Given the description of an element on the screen output the (x, y) to click on. 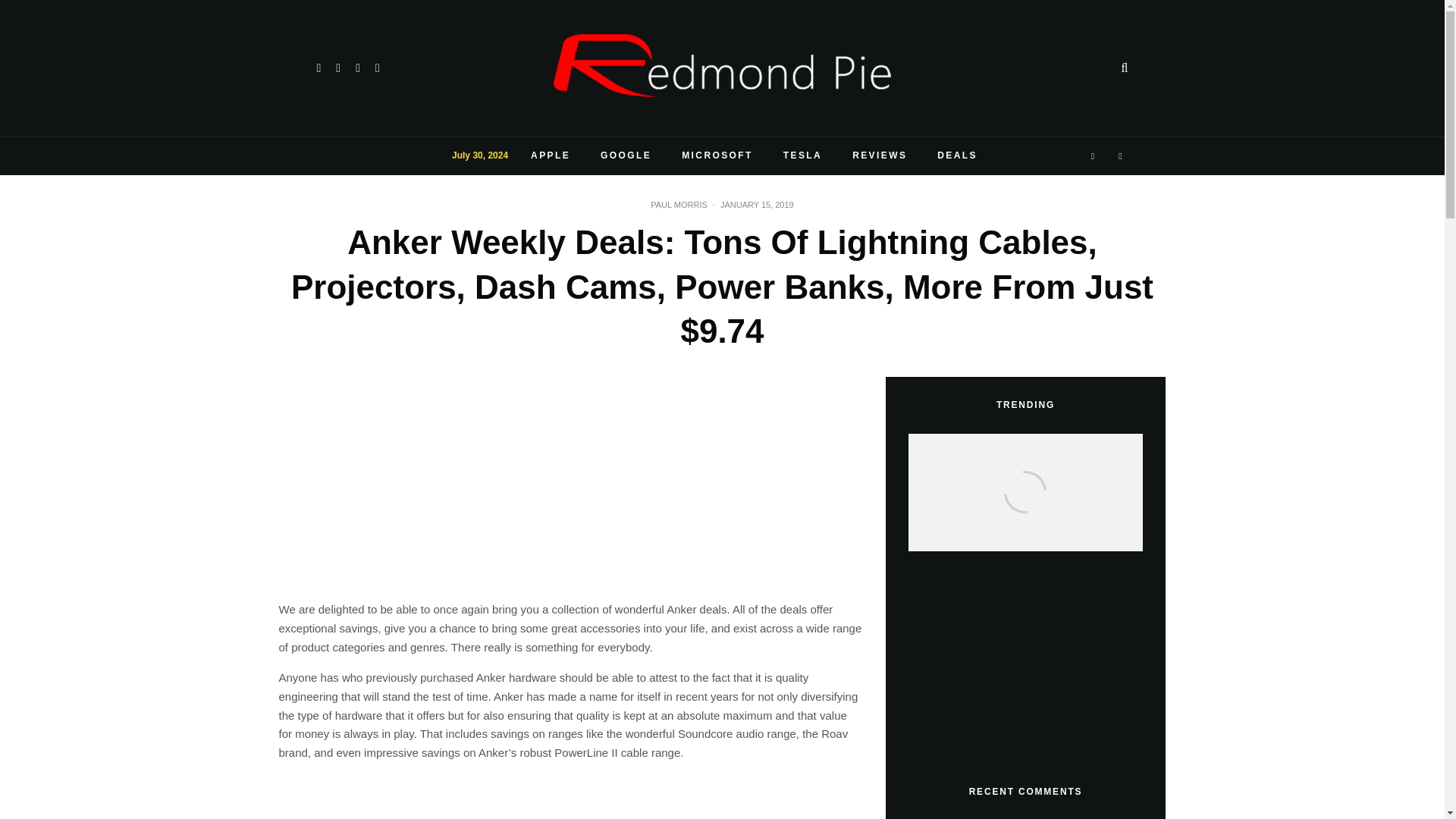
TESLA (802, 156)
GOOGLE (625, 156)
APPLE (550, 156)
MICROSOFT (717, 156)
